Given the description of an element on the screen output the (x, y) to click on. 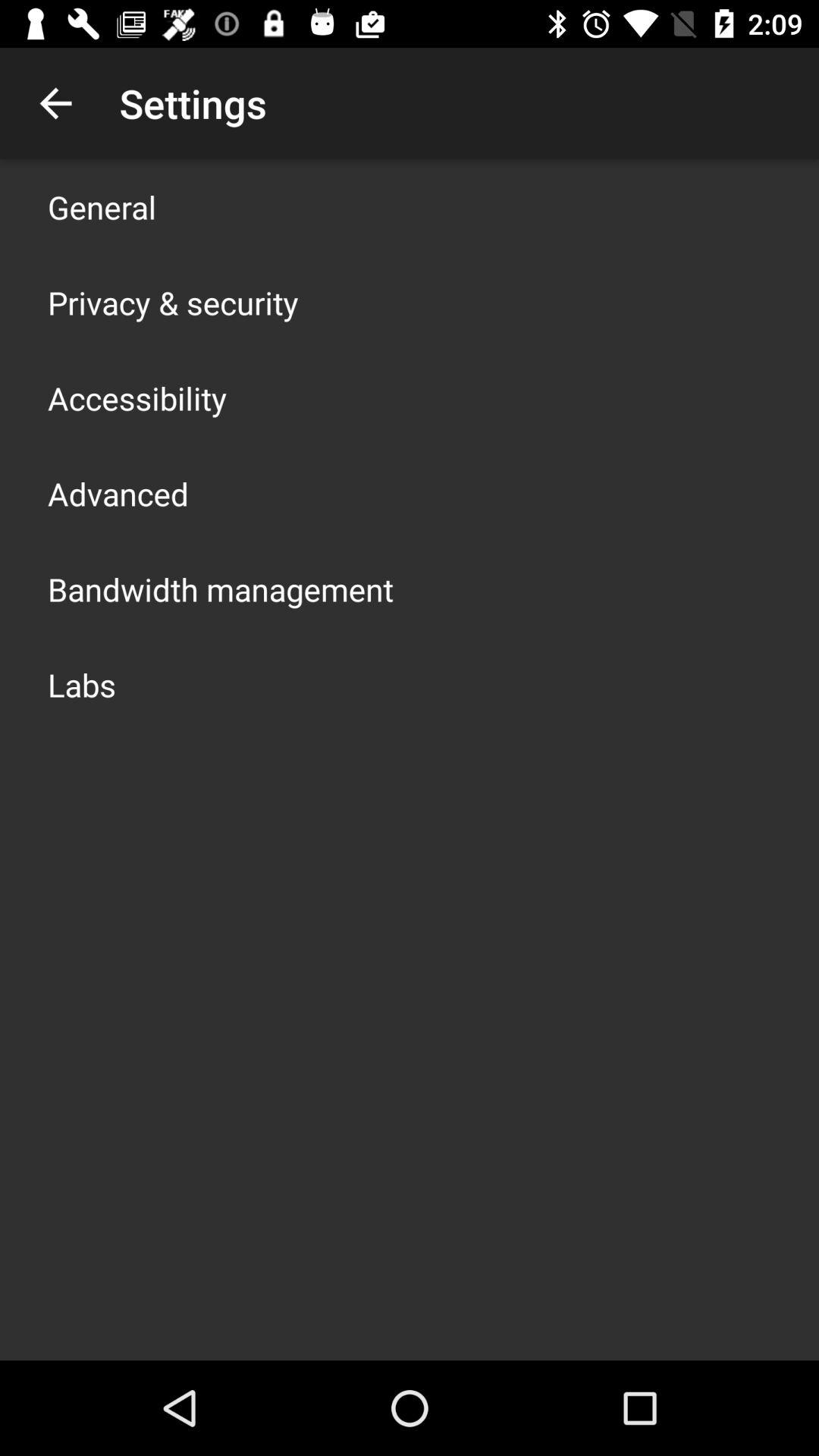
turn on the item below bandwidth management icon (81, 684)
